Given the description of an element on the screen output the (x, y) to click on. 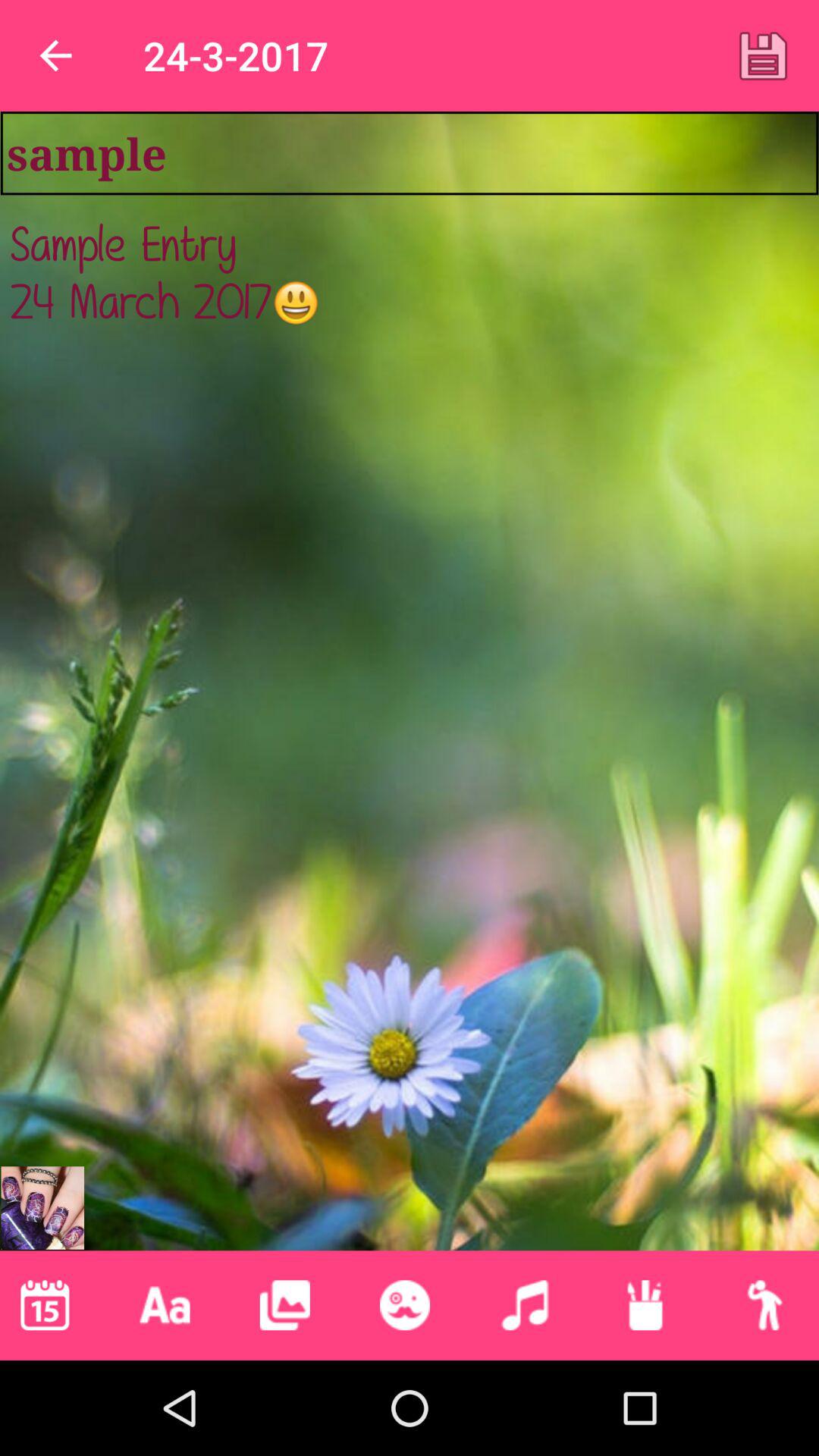
save (763, 55)
